Given the description of an element on the screen output the (x, y) to click on. 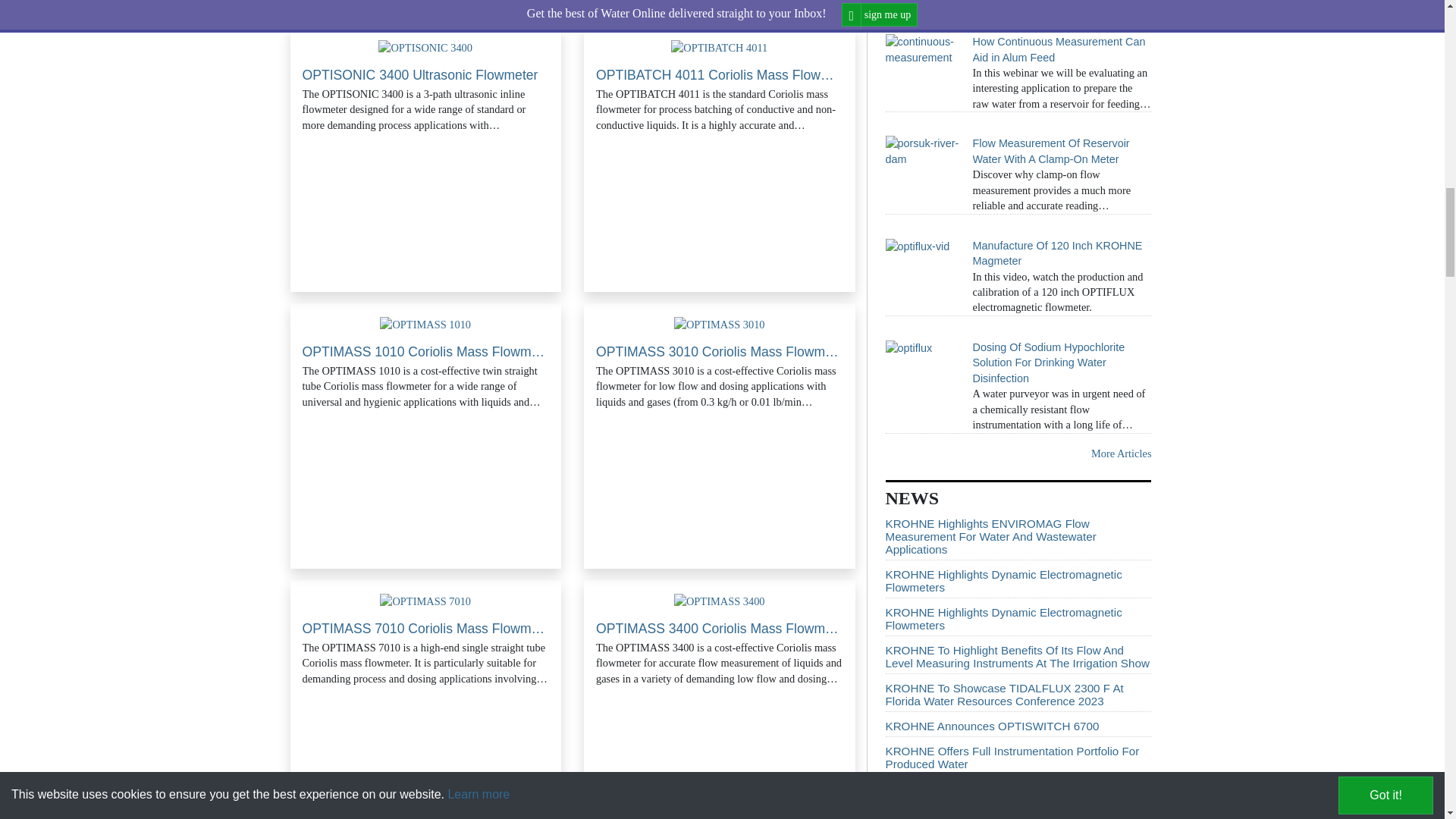
OPTIMASS 1010 Coriolis Mass Flowmeter (425, 324)
OPTIMASS 3010 Coriolis Mass Flowmeter (719, 324)
OPTIMASS 7010 Coriolis Mass Flowmeter (425, 601)
OPTIMASS 3400 Coriolis Mass Flowmeter (719, 601)
OPTISONIC 3400 Ultrasonic Flowmeter (424, 47)
OPTIBATCH 4011 Coriolis Mass Flowmeter (719, 47)
